Given the description of an element on the screen output the (x, y) to click on. 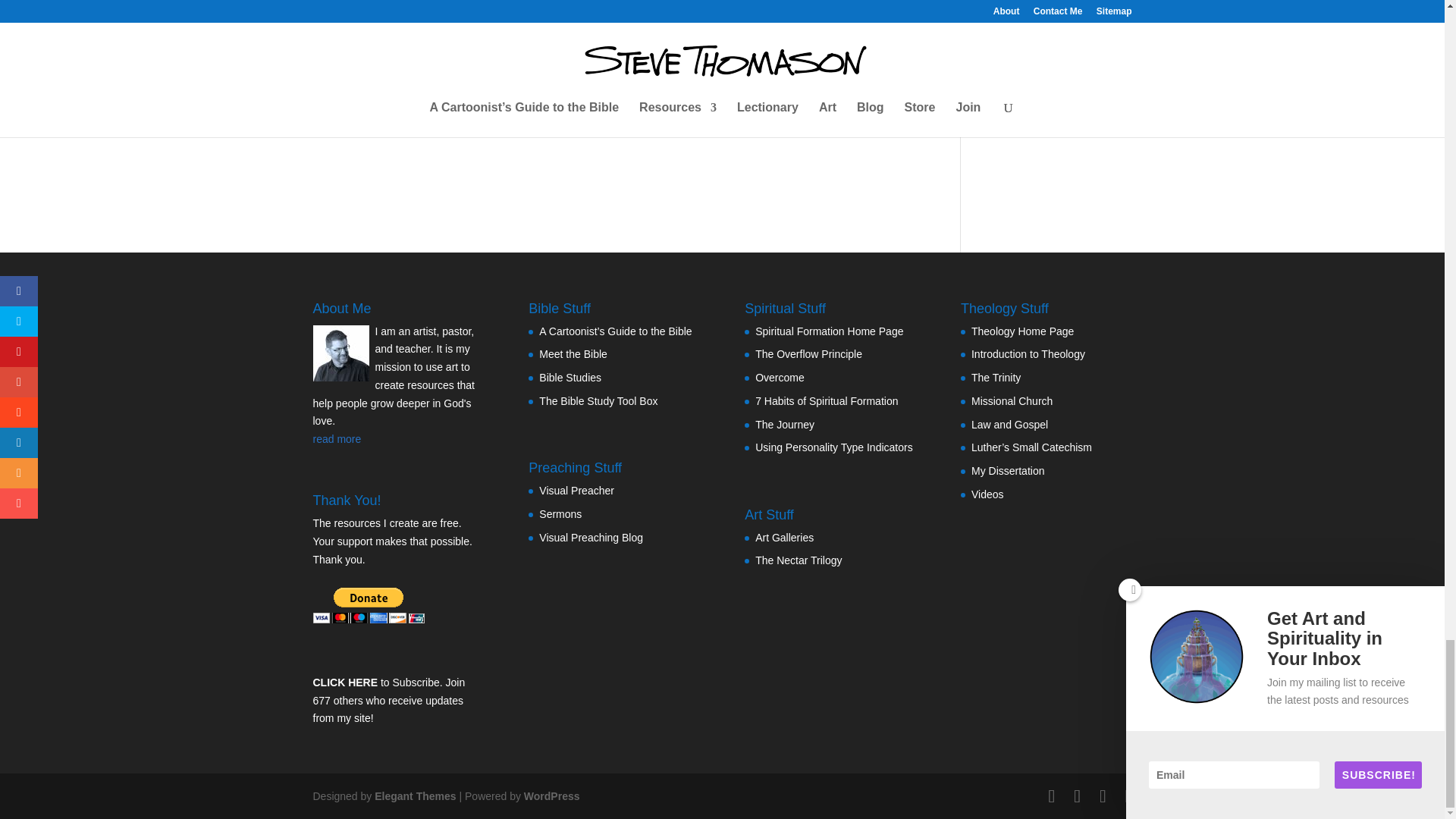
Premium WordPress Themes (414, 796)
subscribe (319, 40)
PayPal - The safer, easier way to pay online! (368, 605)
Submit Comment (840, 99)
